Given the description of an element on the screen output the (x, y) to click on. 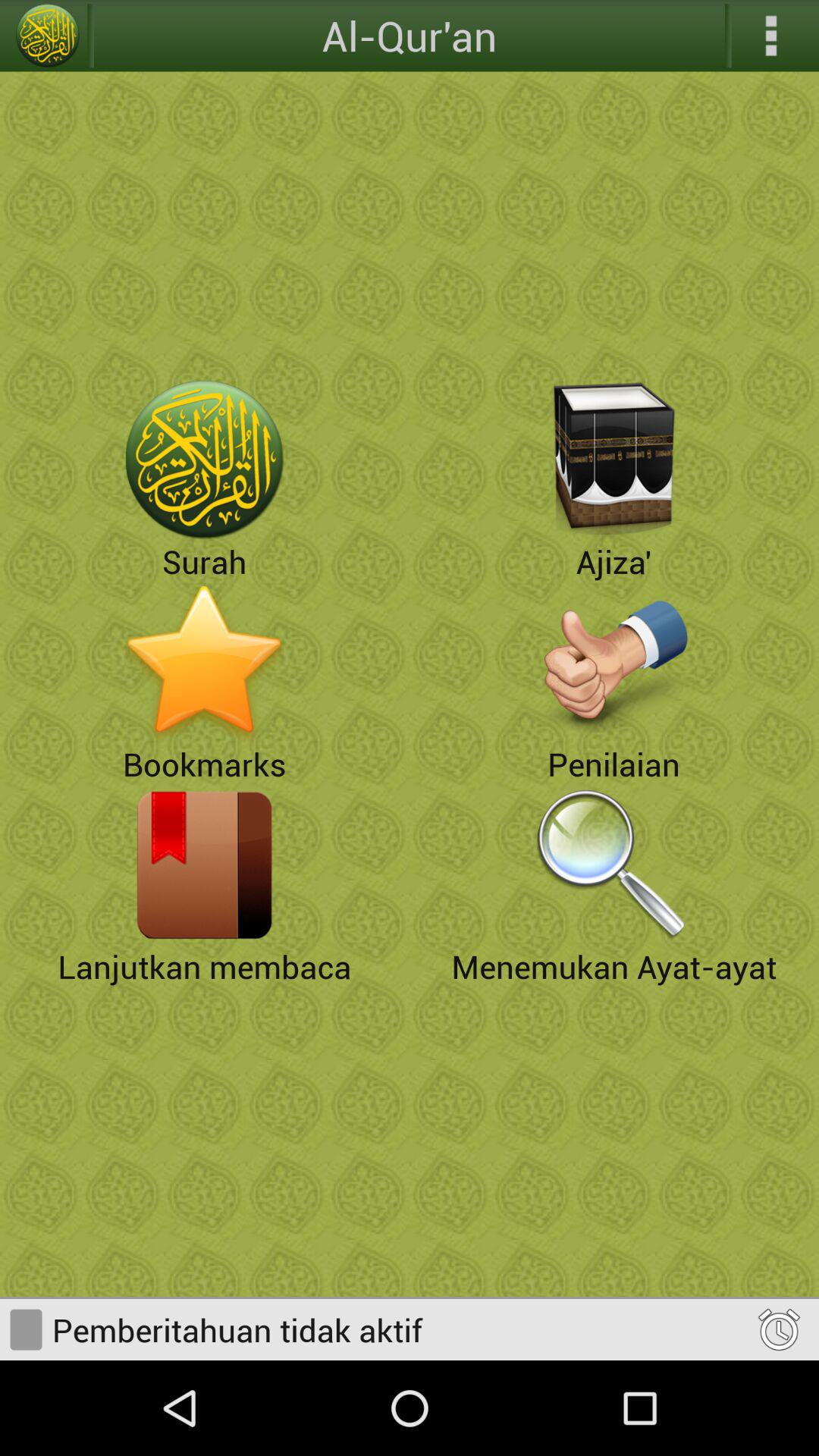
surah (204, 459)
